Given the description of an element on the screen output the (x, y) to click on. 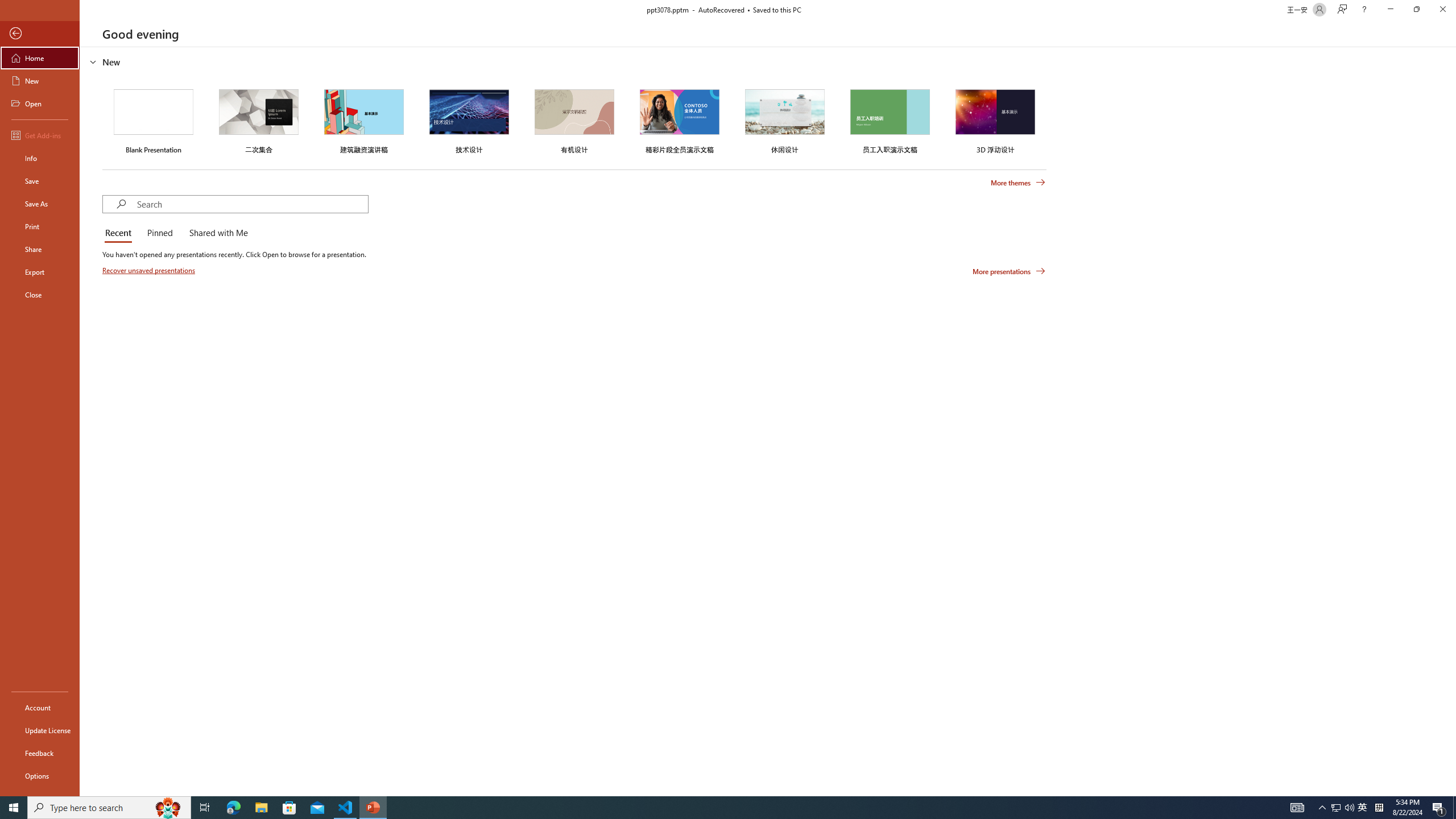
Export (40, 271)
More themes (1018, 182)
Account (40, 707)
Get Add-ins (40, 134)
